Given the description of an element on the screen output the (x, y) to click on. 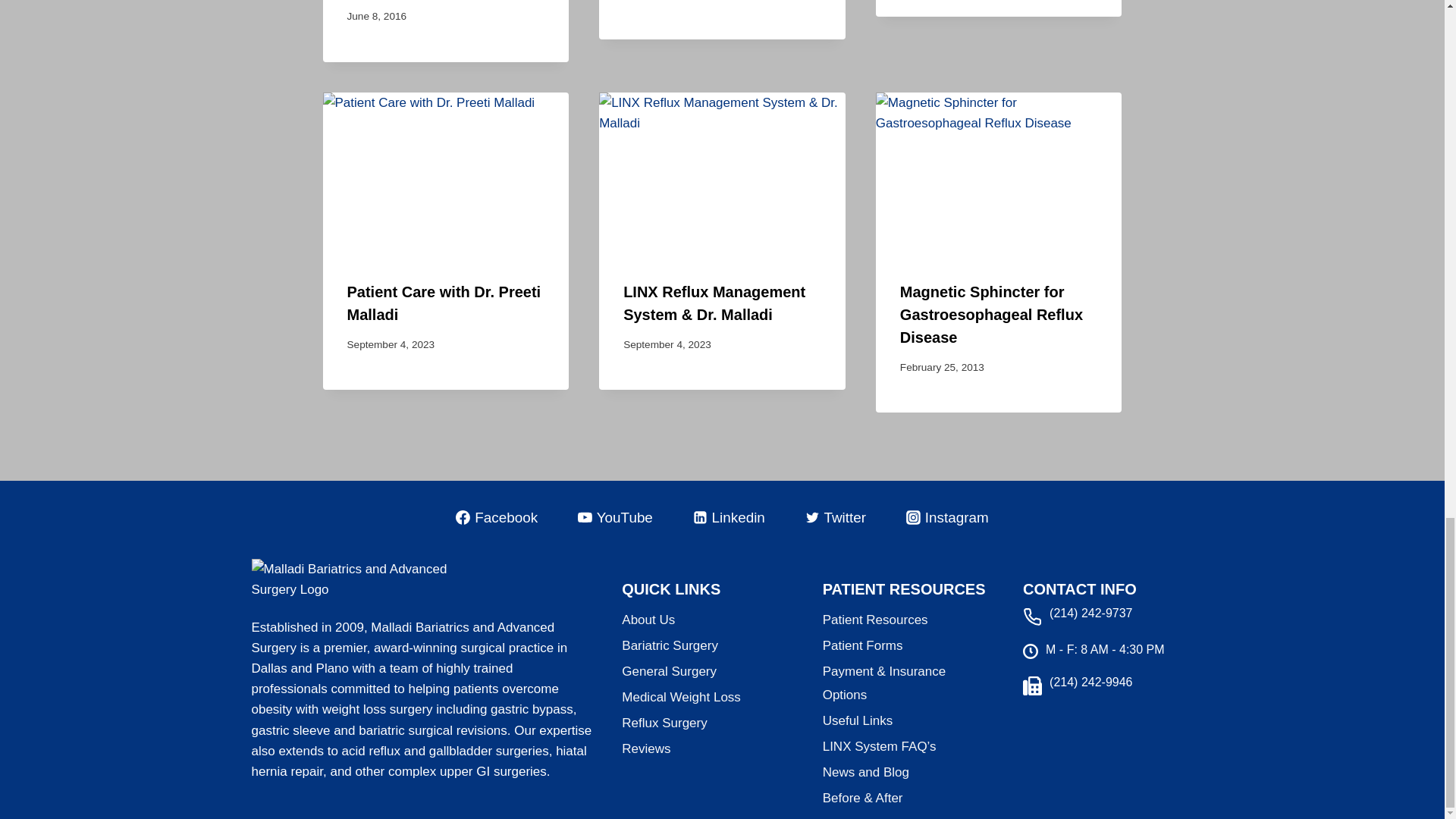
Malladi Bariatrics and Advanced Surgery Logo (361, 585)
